Given the description of an element on the screen output the (x, y) to click on. 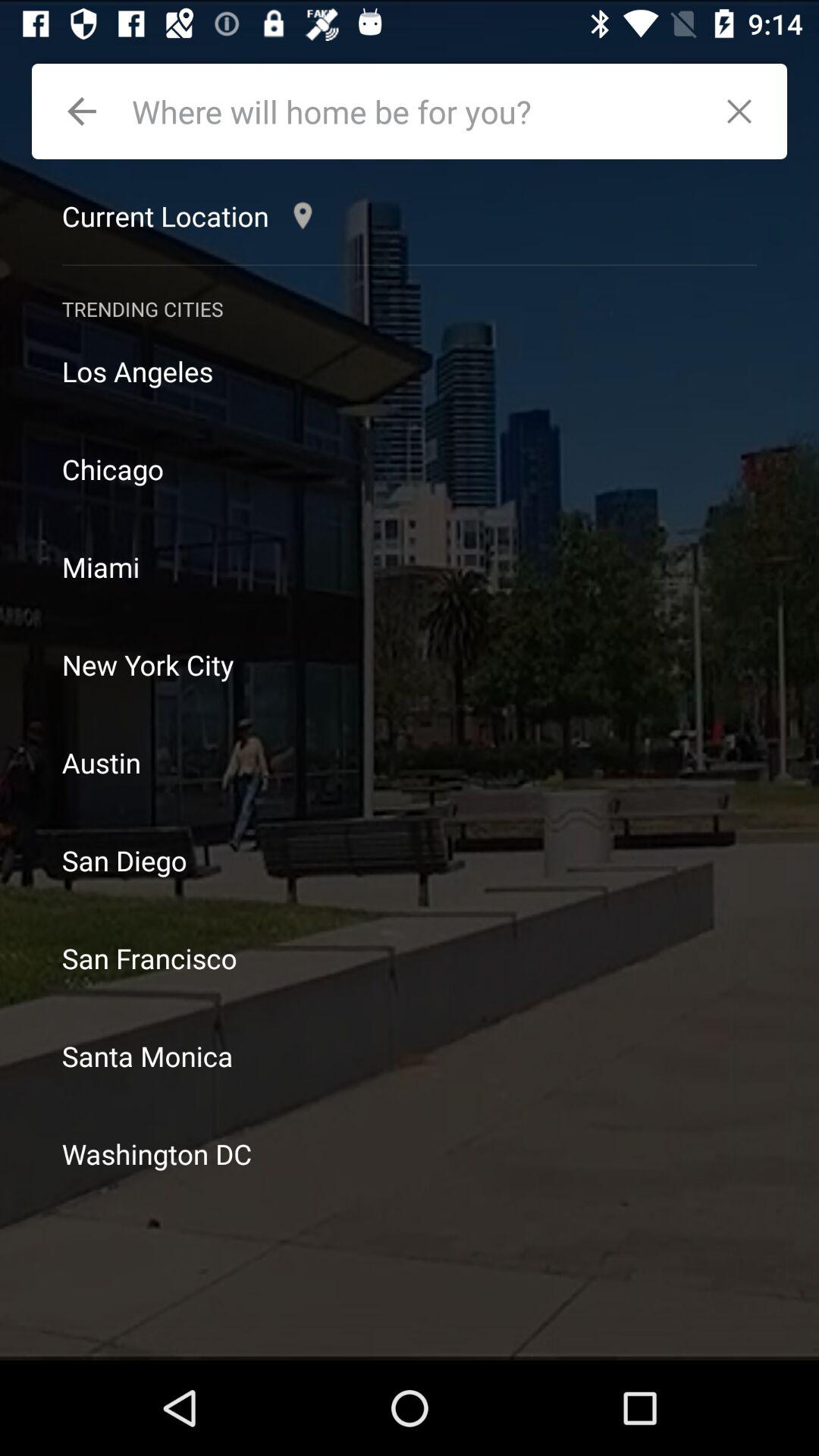
jump until santa monica icon (409, 1056)
